Given the description of an element on the screen output the (x, y) to click on. 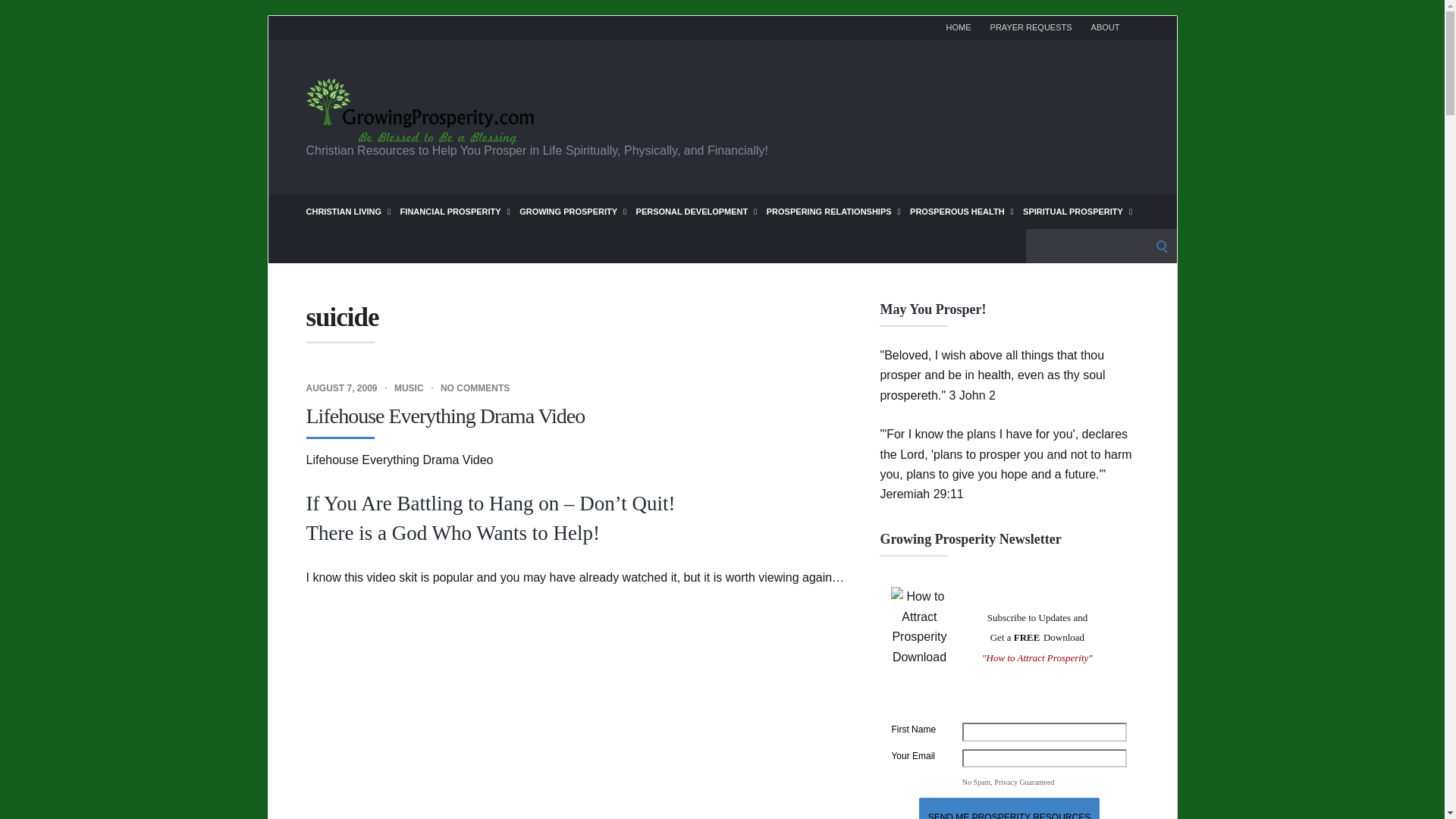
ABOUT (1104, 27)
HOME (958, 27)
PROSPERING RELATIONSHIPS (834, 211)
CHRISTIAN LIVING (348, 211)
FINANCIAL PROSPERITY (455, 211)
GROWING PROSPERITY (572, 211)
PRAYER REQUESTS (1030, 27)
PROSPEROUS HEALTH (961, 211)
PERSONAL DEVELOPMENT (696, 211)
Send Me Prosperity Resources (1009, 808)
